Given the description of an element on the screen output the (x, y) to click on. 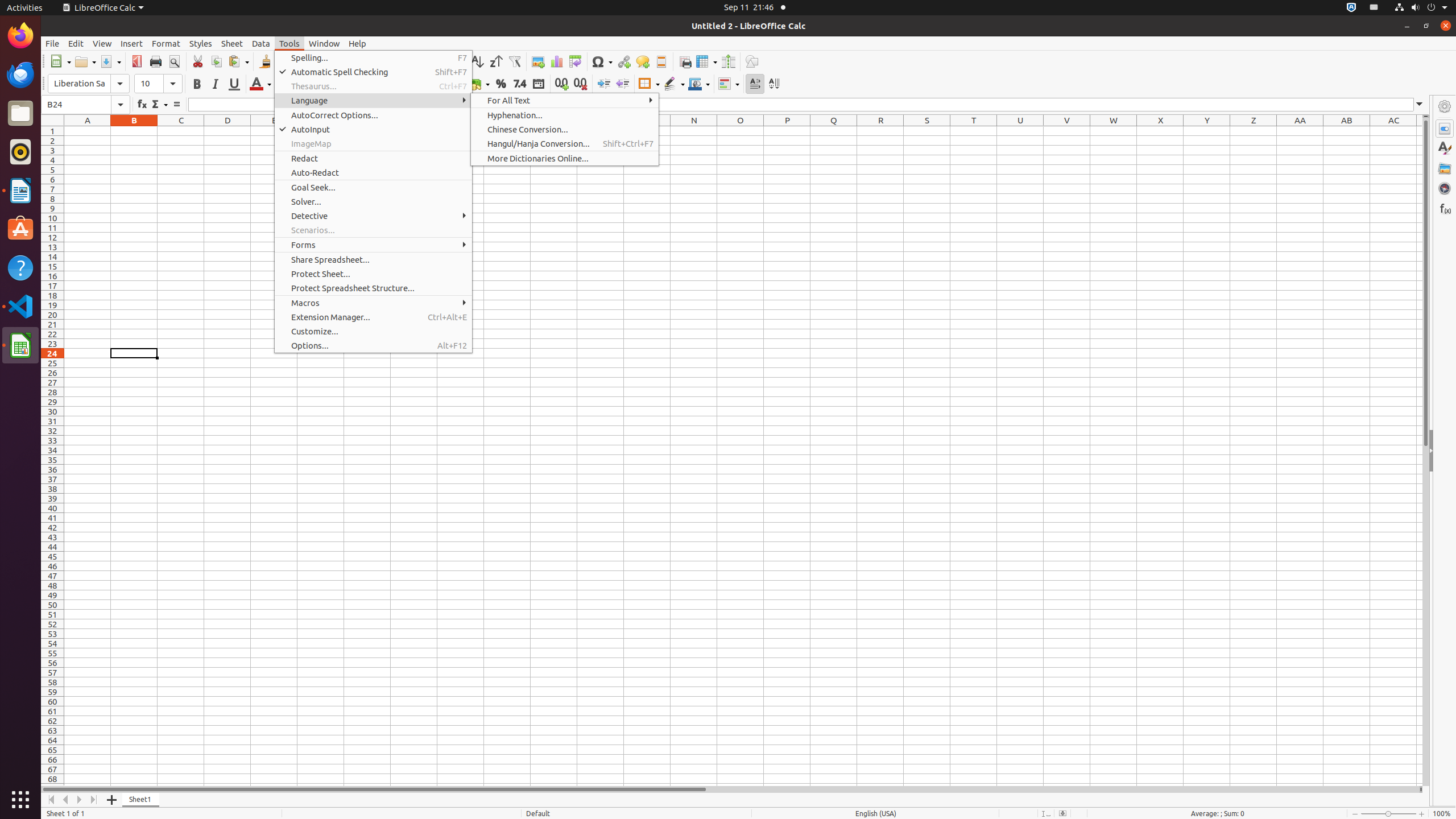
For All Text Element type: menu (564, 100)
Font Name Element type: panel (88, 83)
Print Preview Element type: toggle-button (173, 61)
Spelling... Element type: menu-item (373, 57)
